Given the description of an element on the screen output the (x, y) to click on. 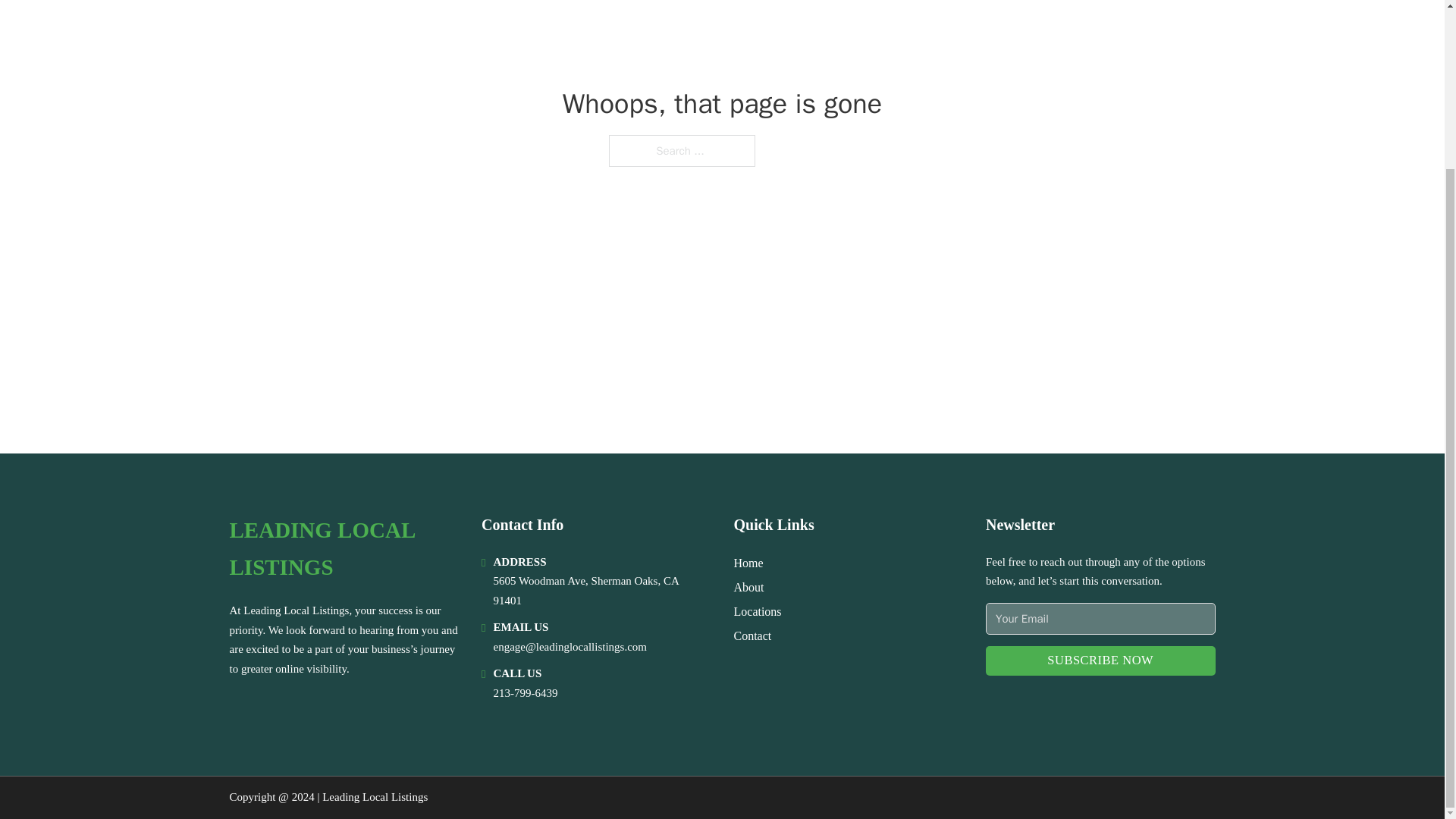
Contact (752, 635)
About (748, 587)
LEADING LOCAL LISTINGS (343, 549)
Home (747, 562)
SUBSCRIBE NOW (1100, 660)
213-799-6439 (525, 693)
Locations (757, 611)
